Given the description of an element on the screen output the (x, y) to click on. 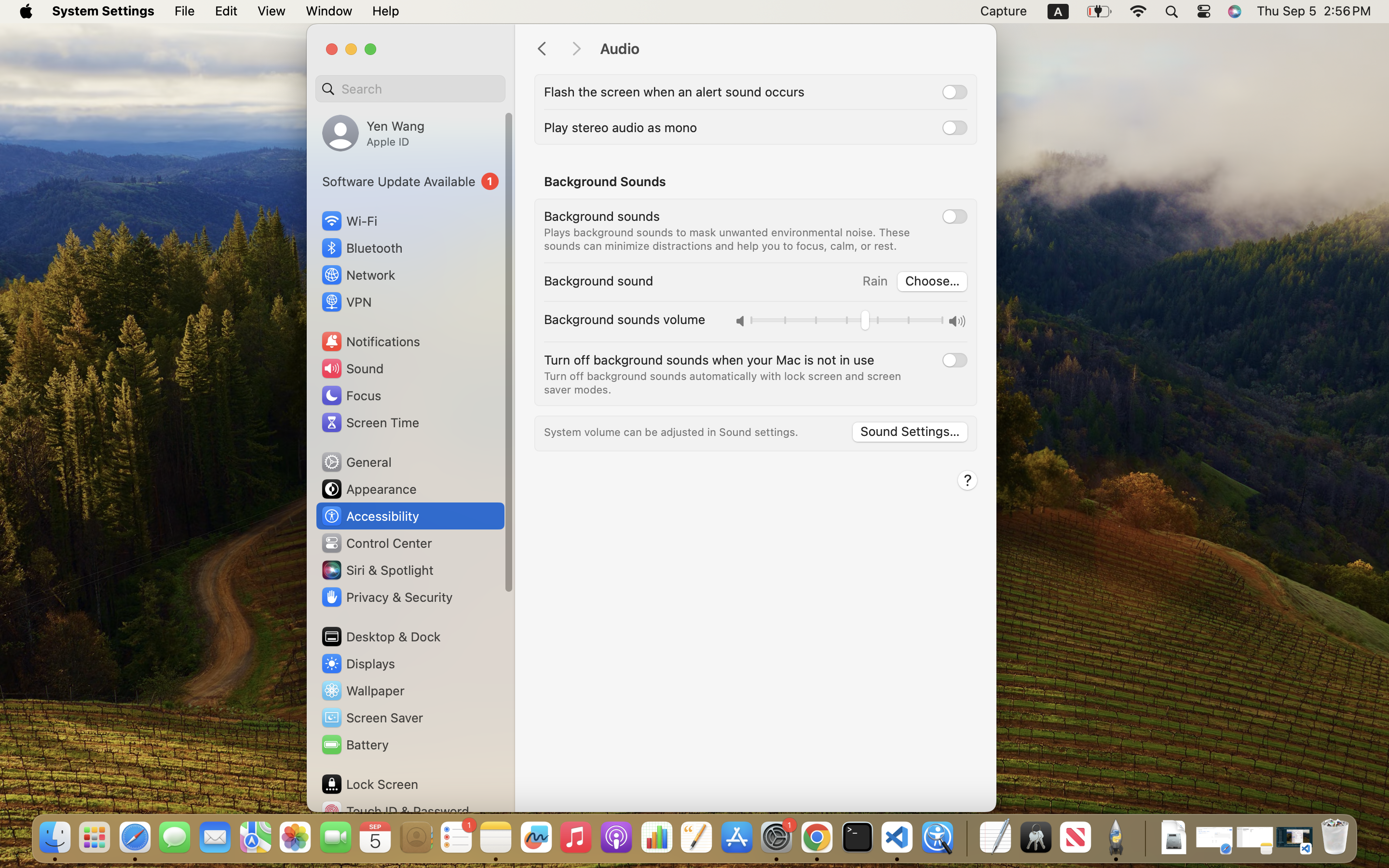
Play stereo audio as mono Element type: AXStaticText (620, 127)
1 Element type: AXStaticText (410, 180)
Background sounds volume Element type: AXStaticText (624, 318)
Background sound Element type: AXStaticText (598, 280)
Flash the screen when an alert sound occurs Element type: AXStaticText (674, 91)
